Given the description of an element on the screen output the (x, y) to click on. 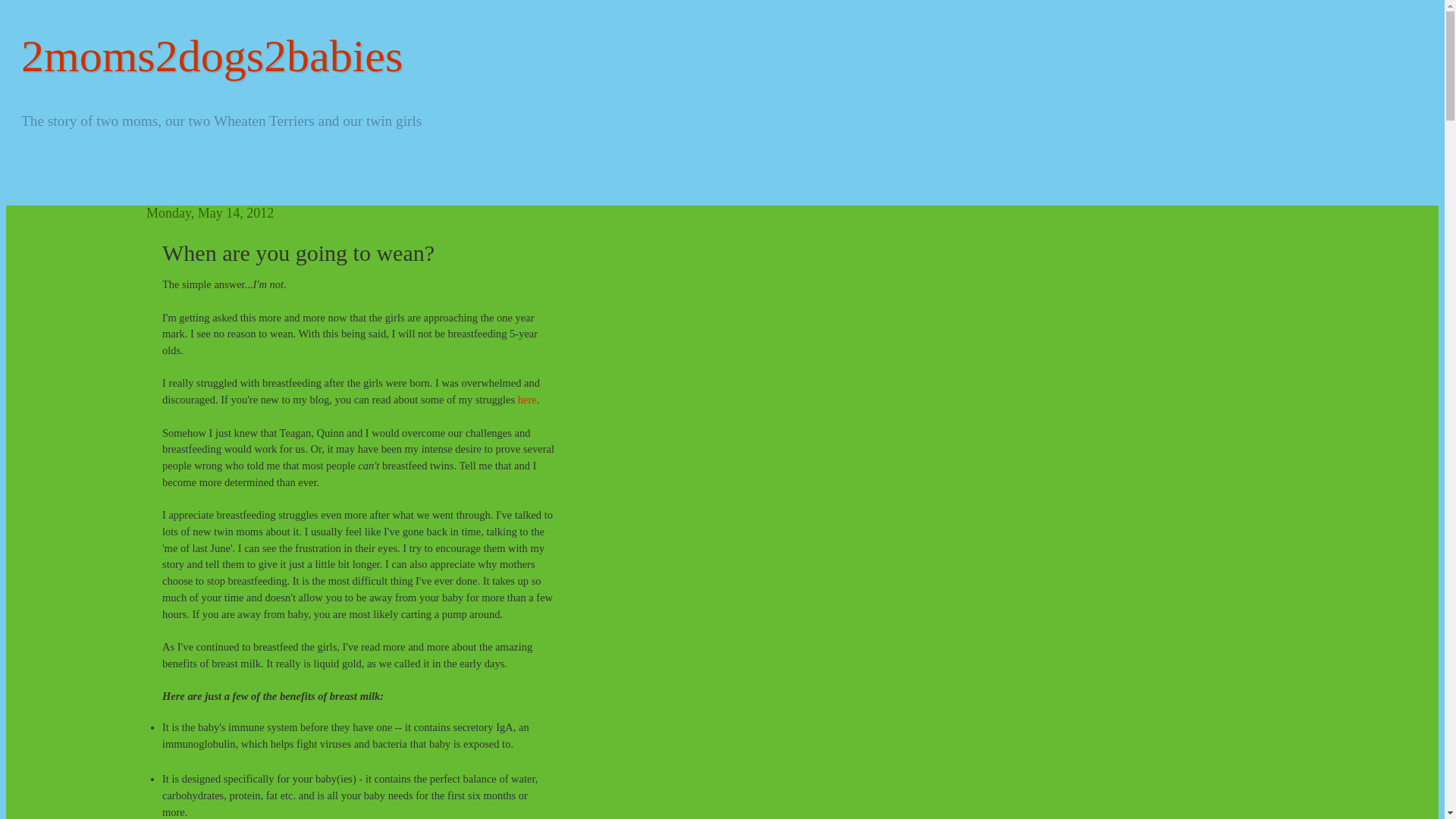
here Element type: text (526, 399)
2moms2dogs2babies Element type: text (211, 56)
